Given the description of an element on the screen output the (x, y) to click on. 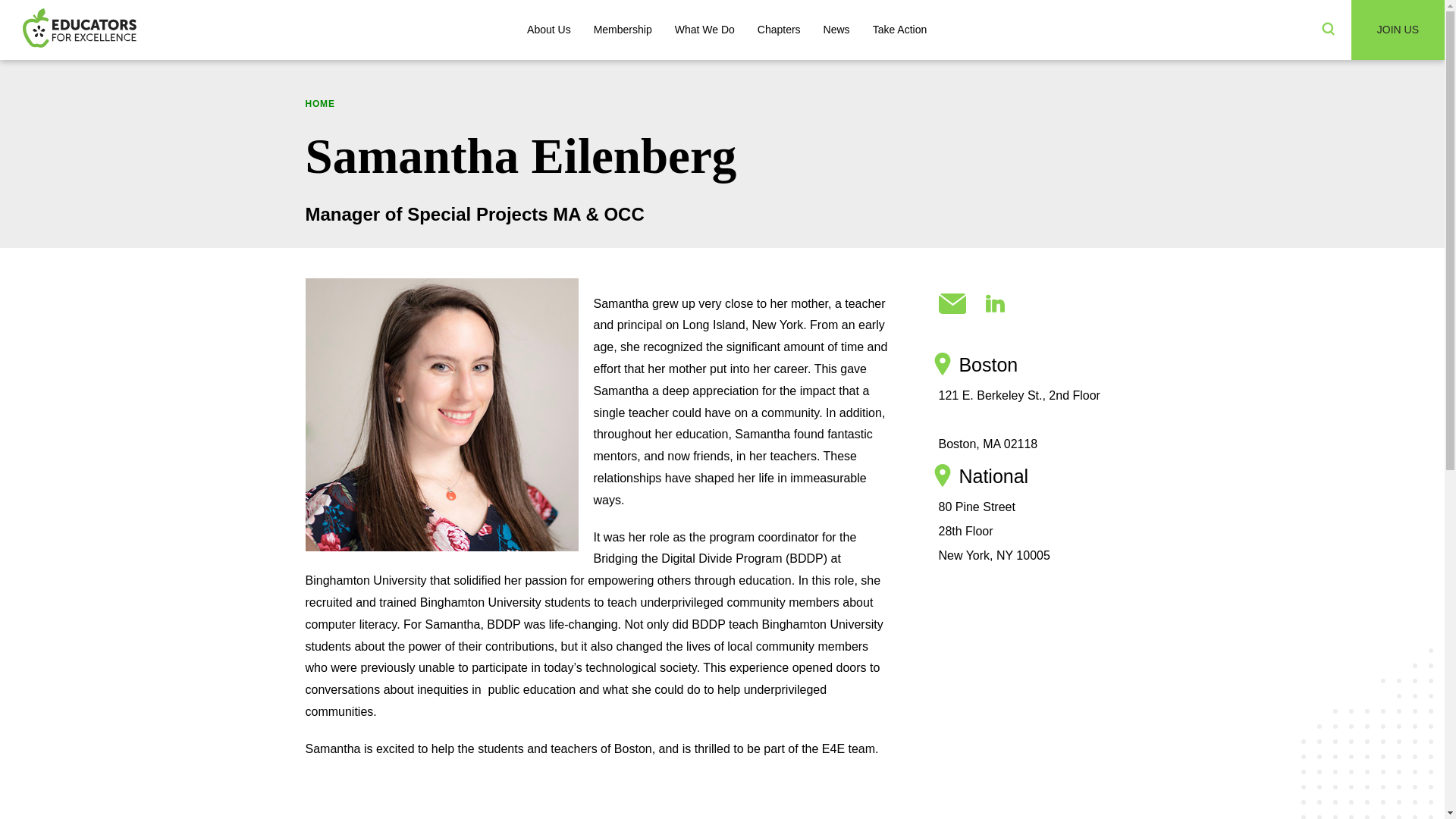
About Us (548, 29)
What We Do (705, 29)
Membership (623, 29)
Chapters (778, 29)
Educators for Excellence (79, 29)
